Given the description of an element on the screen output the (x, y) to click on. 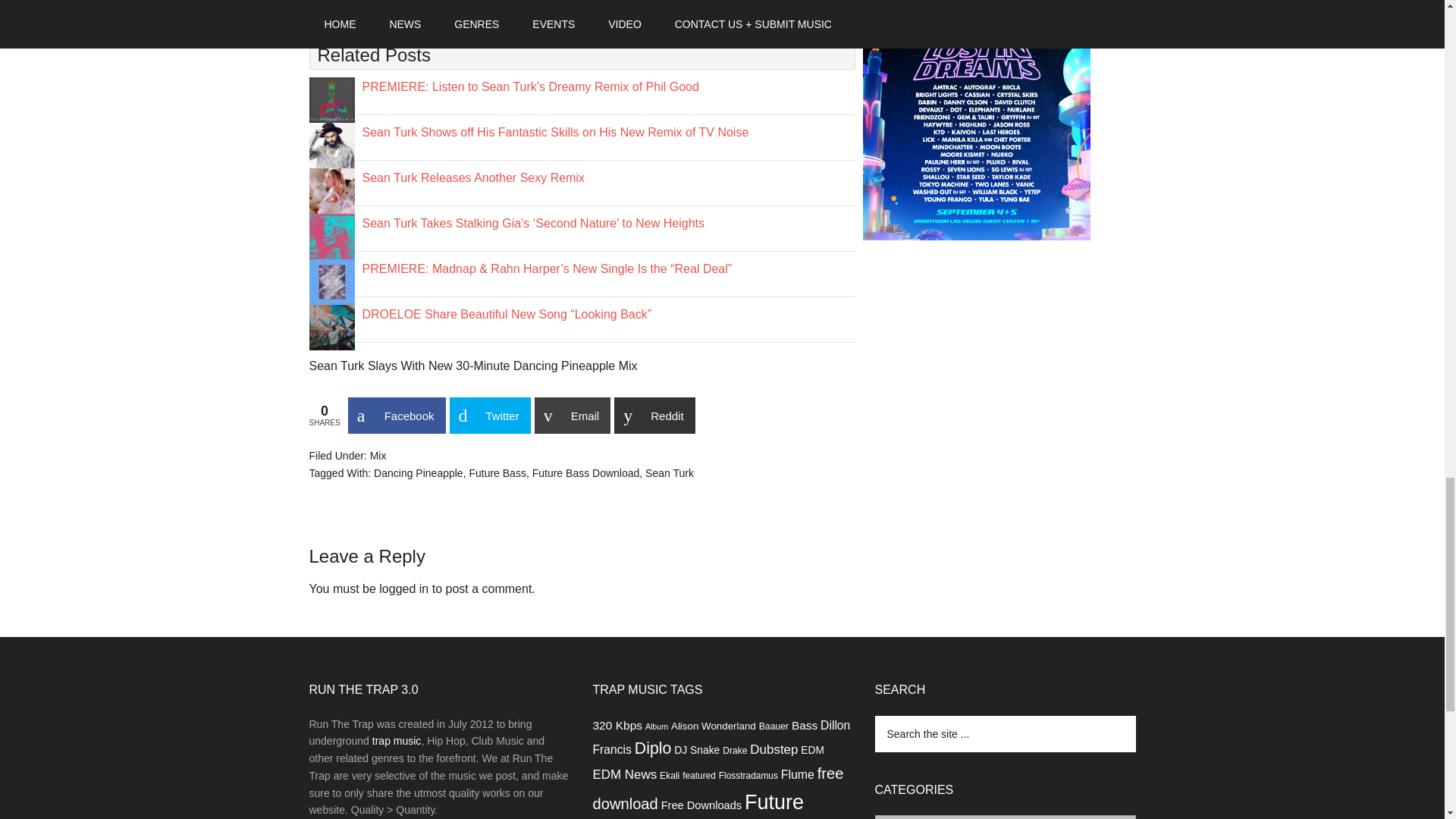
Share on Facebook (396, 415)
Share on Reddit (654, 415)
Share on Email (572, 415)
Share on Twitter (488, 415)
Jordan Farley (367, 11)
